Given the description of an element on the screen output the (x, y) to click on. 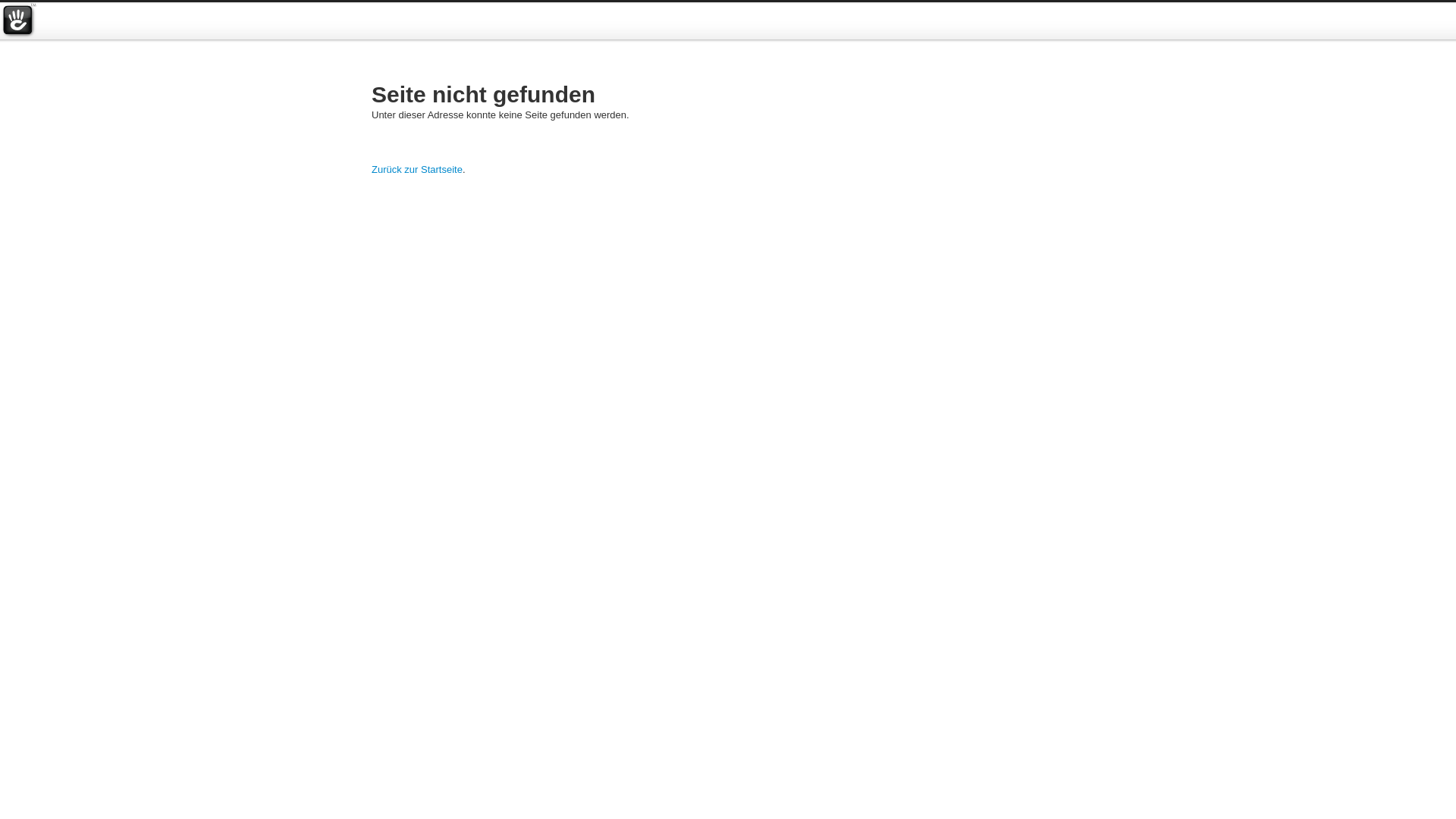
concrete5 Element type: hover (18, 20)
